Given the description of an element on the screen output the (x, y) to click on. 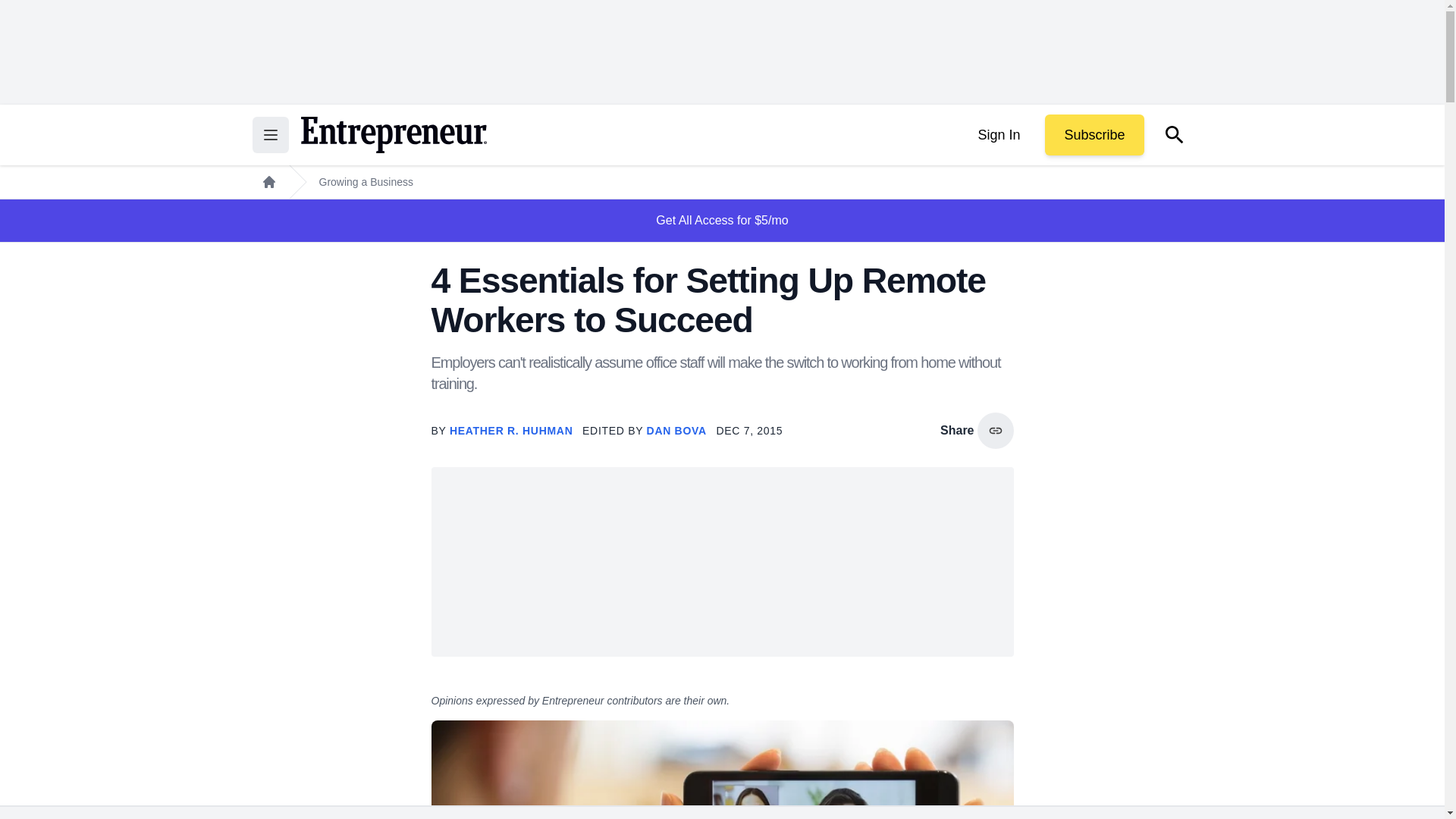
Return to the home page (392, 135)
Subscribe (1093, 134)
copy (994, 430)
Sign In (998, 134)
